Given the description of an element on the screen output the (x, y) to click on. 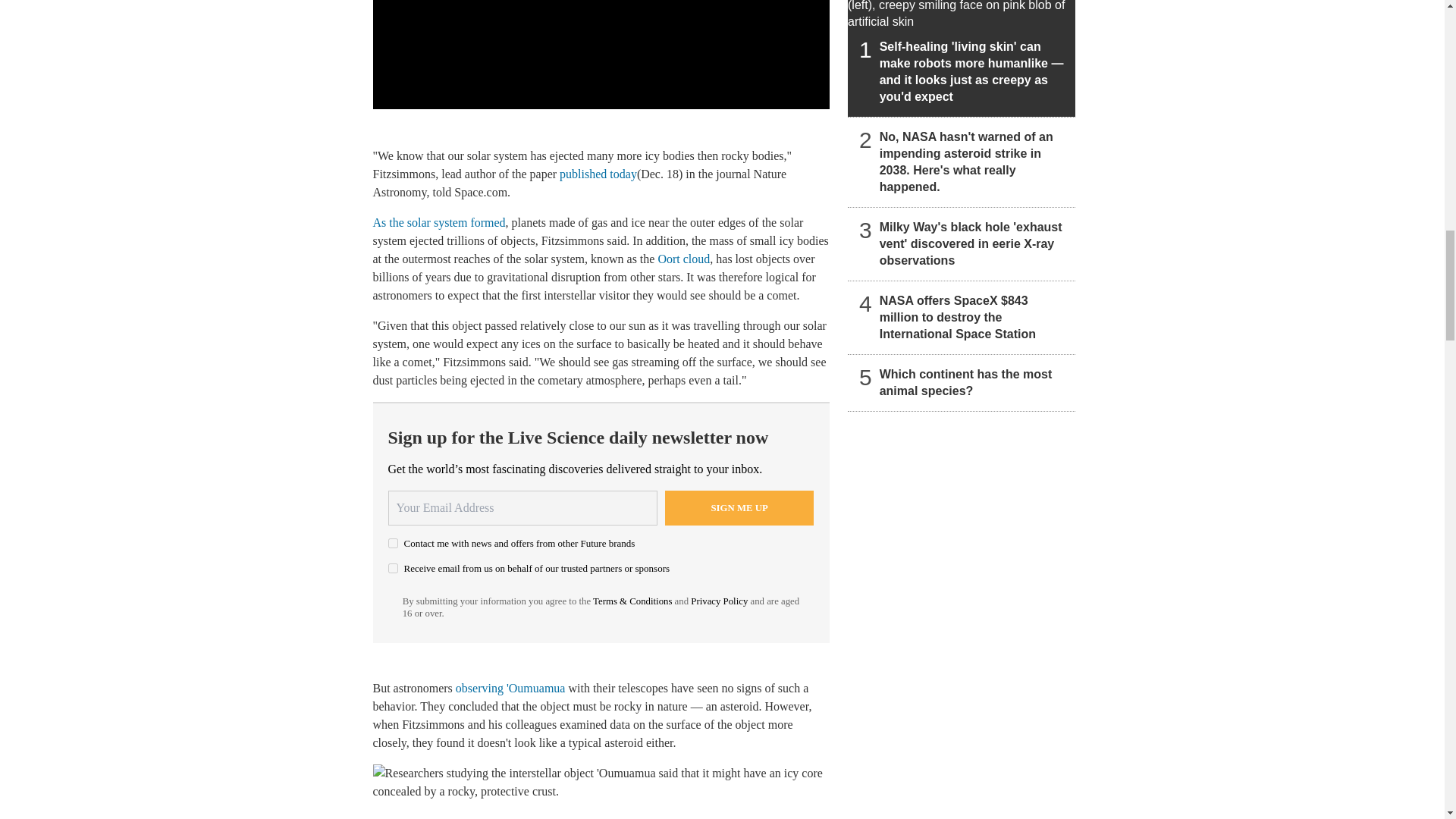
on (392, 542)
on (392, 568)
Sign me up (739, 507)
